Given the description of an element on the screen output the (x, y) to click on. 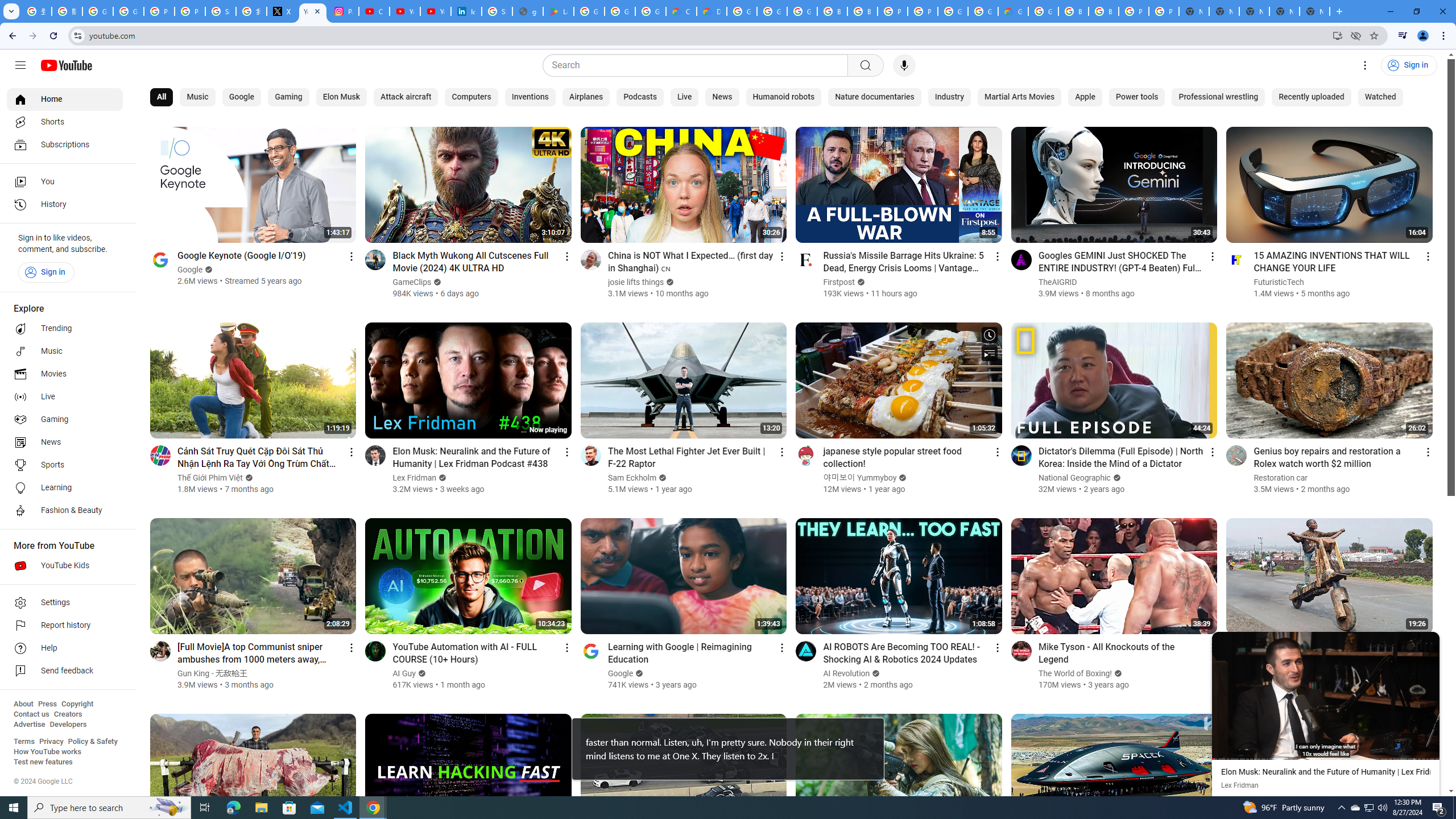
Privacy Help Center - Policies Help (158, 11)
Privacy Help Center - Policies Help (189, 11)
Google Cloud Platform (982, 11)
Contact us (31, 714)
Search (697, 65)
Trending (64, 328)
Recently uploaded (1311, 97)
Movies (64, 373)
Gaming (64, 419)
Go to channel (1236, 650)
